Given the description of an element on the screen output the (x, y) to click on. 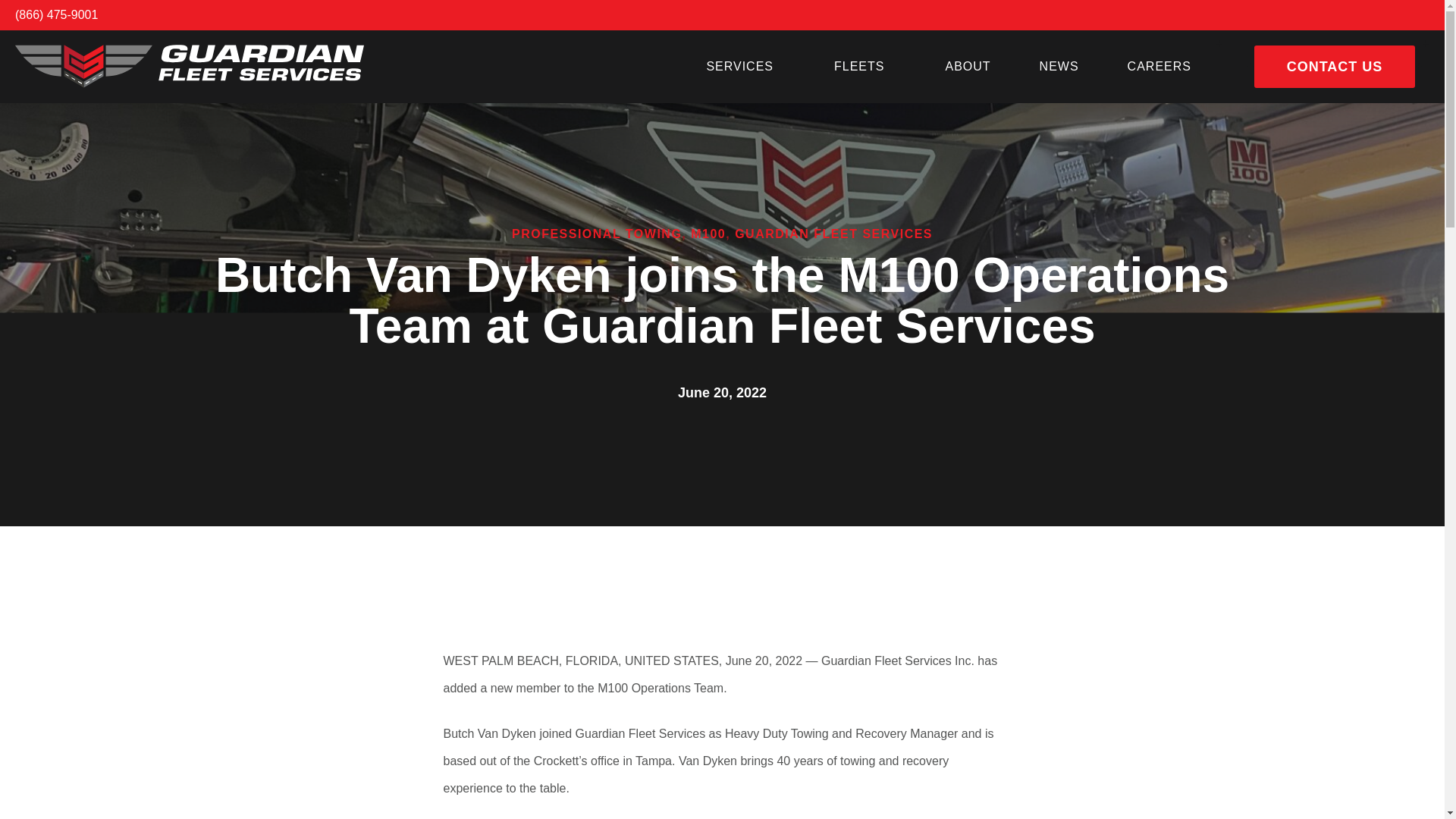
SERVICES (745, 66)
M100 (707, 233)
GUARDIAN FLEET SERVICES (834, 233)
CONTACT US (1334, 66)
FLEETS (864, 66)
ABOUT (967, 66)
NEWS (1058, 66)
Home (190, 66)
PROFESSIONAL TOWING (596, 233)
CAREERS (1159, 66)
